Given the description of an element on the screen output the (x, y) to click on. 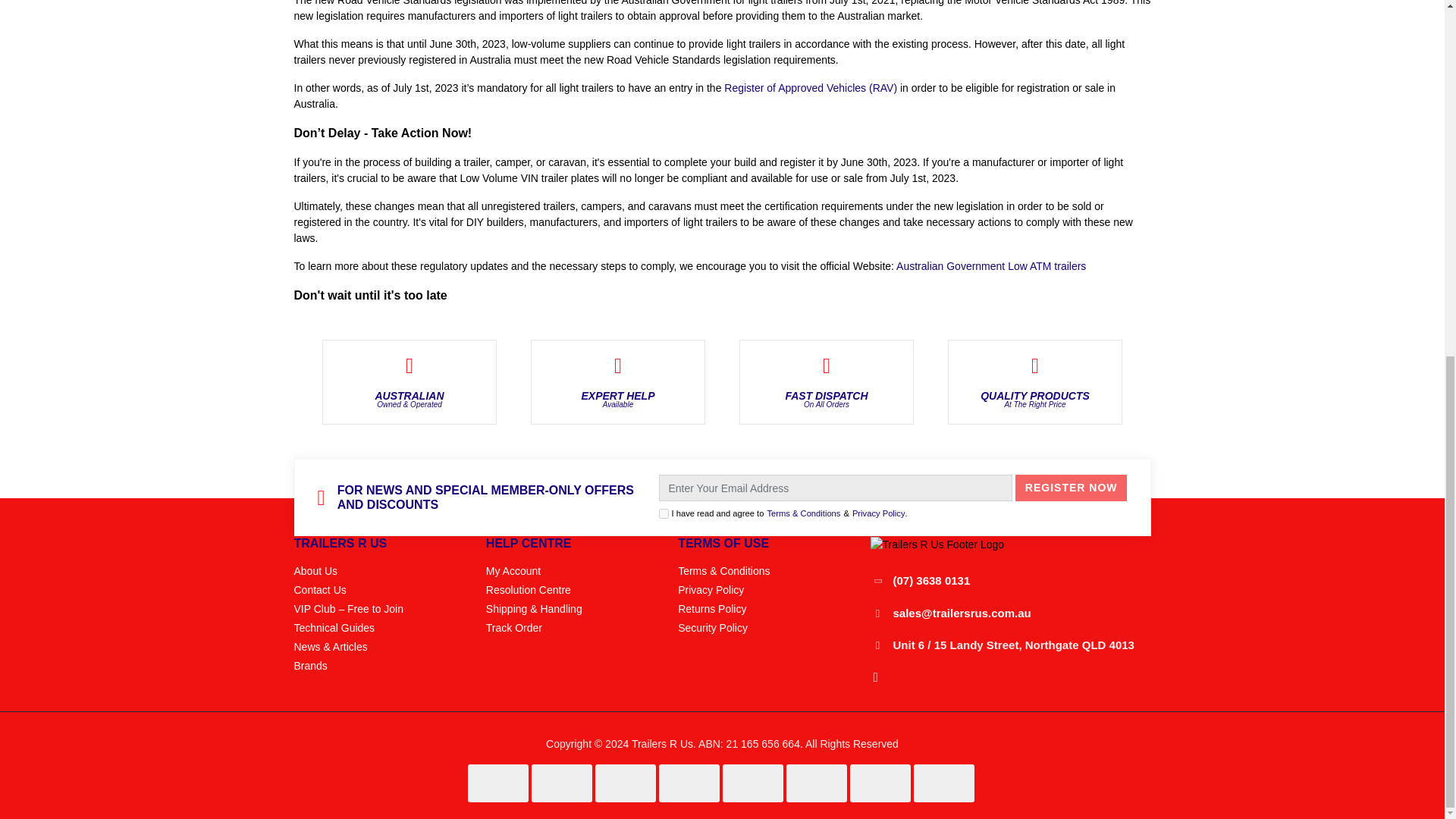
Trailers R Us on Facebook (875, 677)
y (663, 513)
REGISTER NOW (1070, 488)
